Given the description of an element on the screen output the (x, y) to click on. 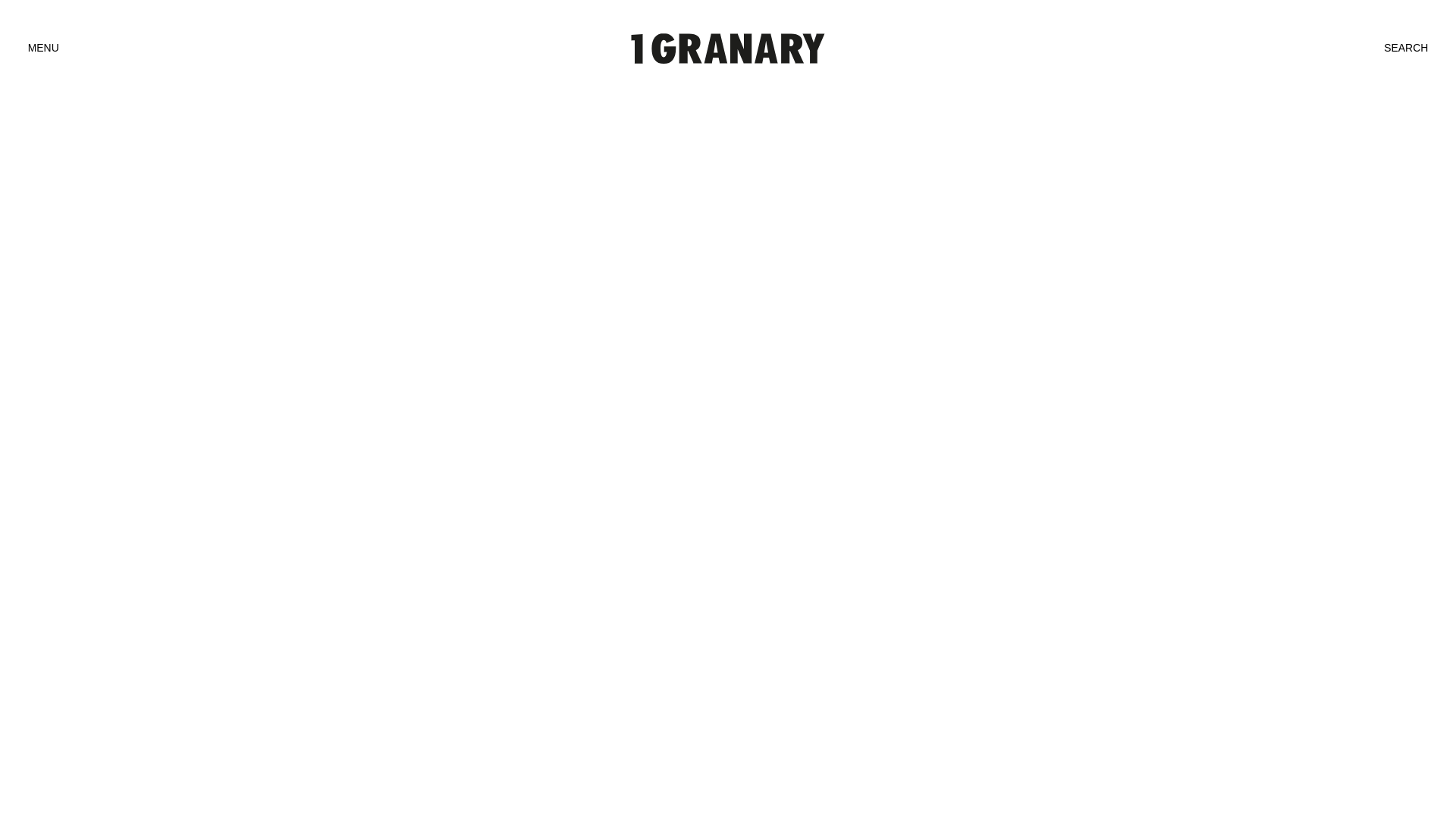
MENU Element type: text (43, 48)
SEARCH Element type: text (1405, 48)
